Given the description of an element on the screen output the (x, y) to click on. 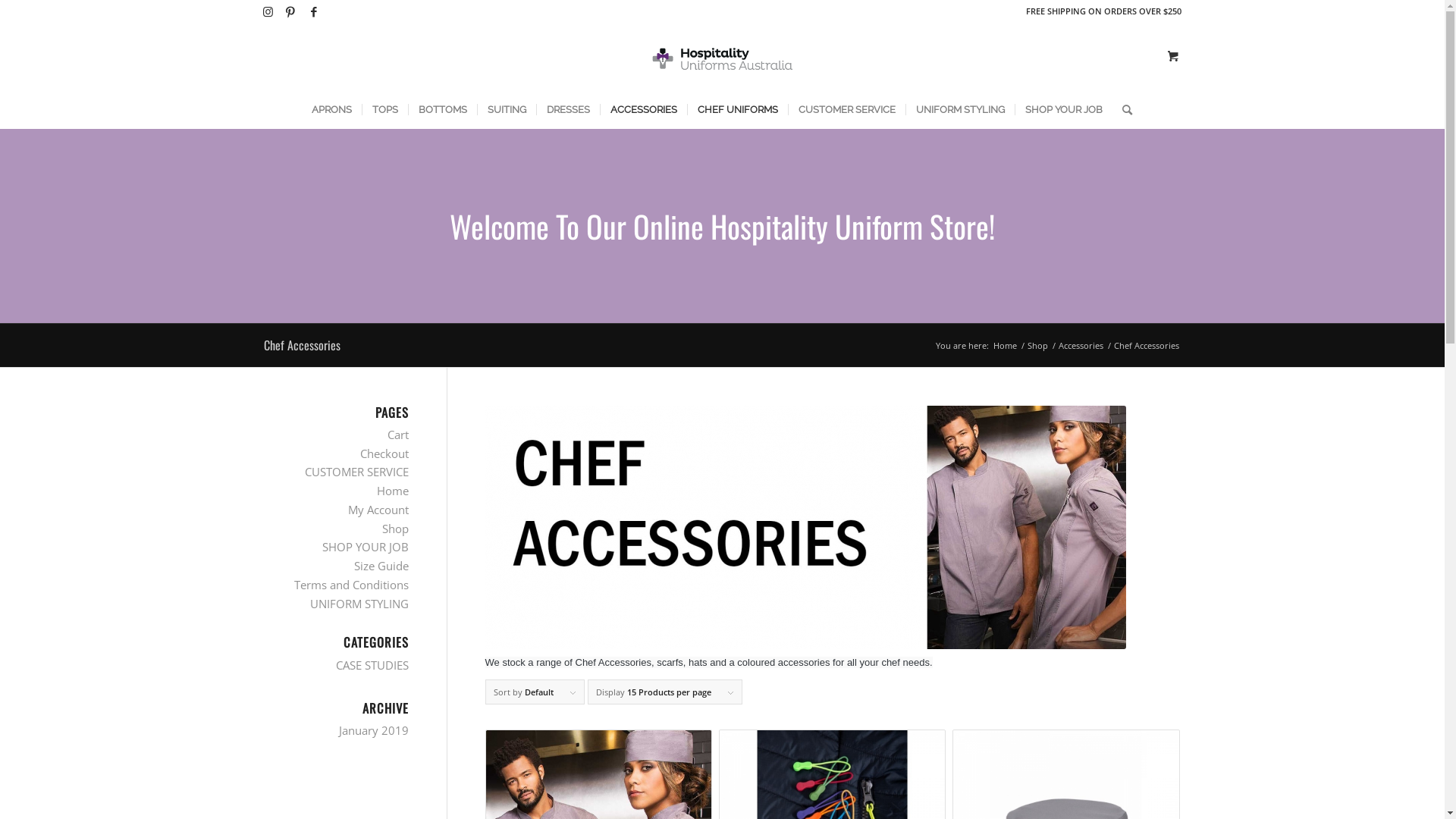
Cart Element type: text (396, 434)
SHOP YOUR JOB Element type: text (364, 546)
Home Element type: text (391, 490)
Shop Element type: text (1037, 345)
SUITING Element type: text (505, 109)
CUSTOMER SERVICE Element type: text (845, 109)
Checkout Element type: text (383, 453)
My Account Element type: text (377, 509)
Size Guide Element type: text (380, 565)
ACCESSORIES Element type: text (642, 109)
TOPS Element type: text (383, 109)
Facebook Element type: hover (312, 11)
CASE STUDIES Element type: text (371, 664)
Instagram Element type: hover (267, 11)
January 2019 Element type: text (372, 729)
SHOP YOUR JOB Element type: text (1063, 109)
CUSTOMER SERVICE Element type: text (356, 471)
Terms and Conditions Element type: text (351, 584)
Accessories Element type: text (1079, 345)
Home Element type: text (1004, 345)
UNIFORM STYLING Element type: text (959, 109)
DRESSES Element type: text (567, 109)
CHEF UNIFORMS Element type: text (737, 109)
APRONS Element type: text (331, 109)
Shop Element type: text (395, 528)
UNIFORM STYLING Element type: text (358, 603)
BOTTOMS Element type: text (441, 109)
Pinterest Element type: hover (290, 11)
